Given the description of an element on the screen output the (x, y) to click on. 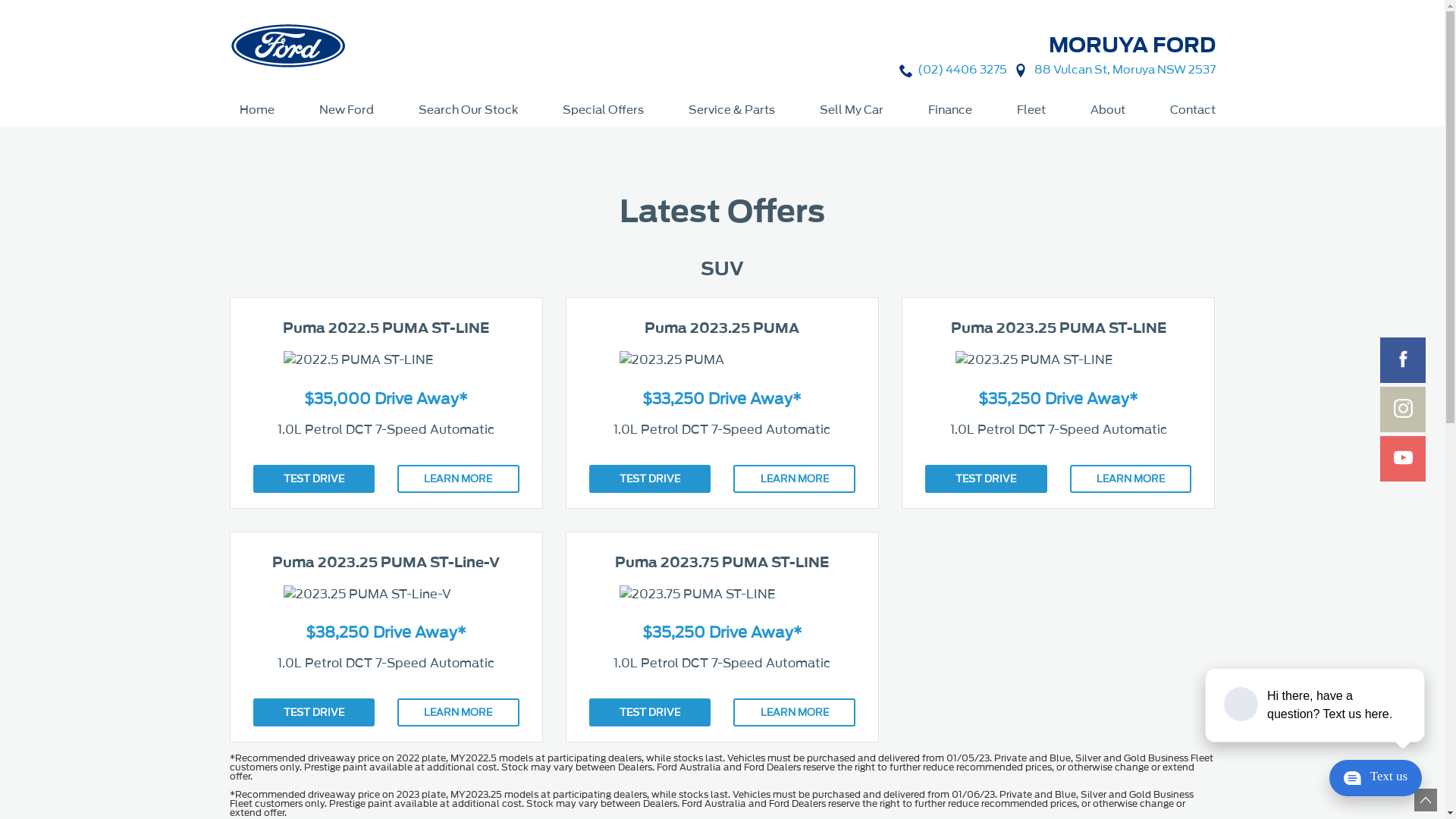
TEST DRIVE Element type: text (314, 478)
TEST DRIVE Element type: text (650, 712)
podium webchat widget prompt Element type: hover (1315, 705)
TEST DRIVE Element type: text (650, 478)
About Element type: text (1106, 109)
LEARN MORE Element type: text (794, 712)
TEST DRIVE Element type: text (986, 478)
Finance Element type: text (949, 109)
Service & Parts Element type: text (730, 109)
(02) 4406 3275 Element type: text (962, 69)
Fleet Element type: text (1031, 109)
LEARN MORE Element type: text (458, 712)
New Ford Element type: text (346, 109)
LEARN MORE Element type: text (1131, 478)
LEARN MORE Element type: text (458, 478)
88 Vulcan St, Moruya NSW 2537 Element type: text (1124, 69)
Special Offers Element type: text (602, 109)
Search Our Stock Element type: text (467, 109)
Contact Element type: text (1187, 109)
LEARN MORE Element type: text (794, 478)
Sell My Car Element type: text (851, 109)
TEST DRIVE Element type: text (314, 712)
Home Element type: text (256, 109)
